Given the description of an element on the screen output the (x, y) to click on. 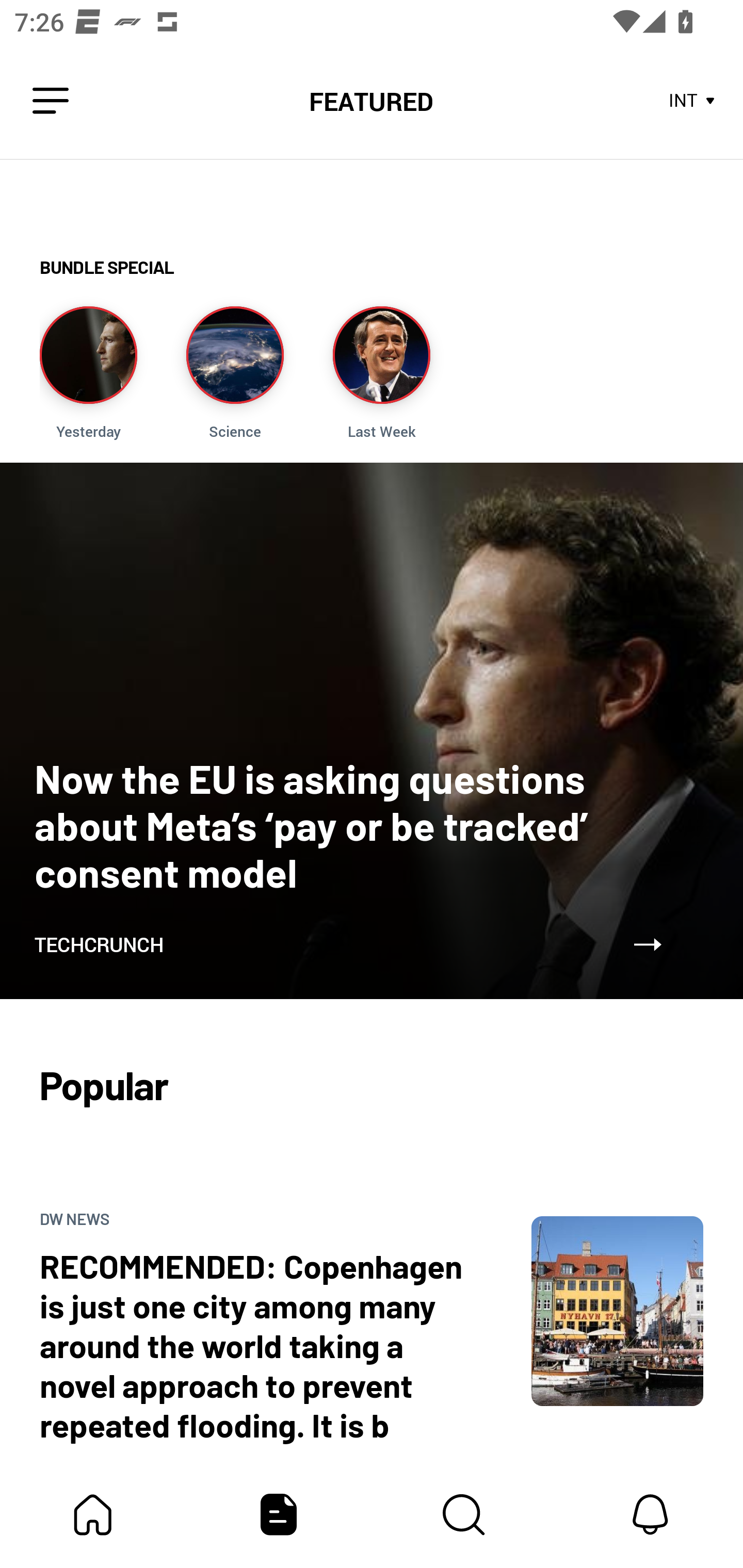
Leading Icon (50, 101)
INT Store Area (692, 101)
Story Image Yesterday (88, 372)
Story Image Science (234, 372)
Story Image Last Week (381, 372)
My Bundle (92, 1514)
Content Store (464, 1514)
Notifications (650, 1514)
